Given the description of an element on the screen output the (x, y) to click on. 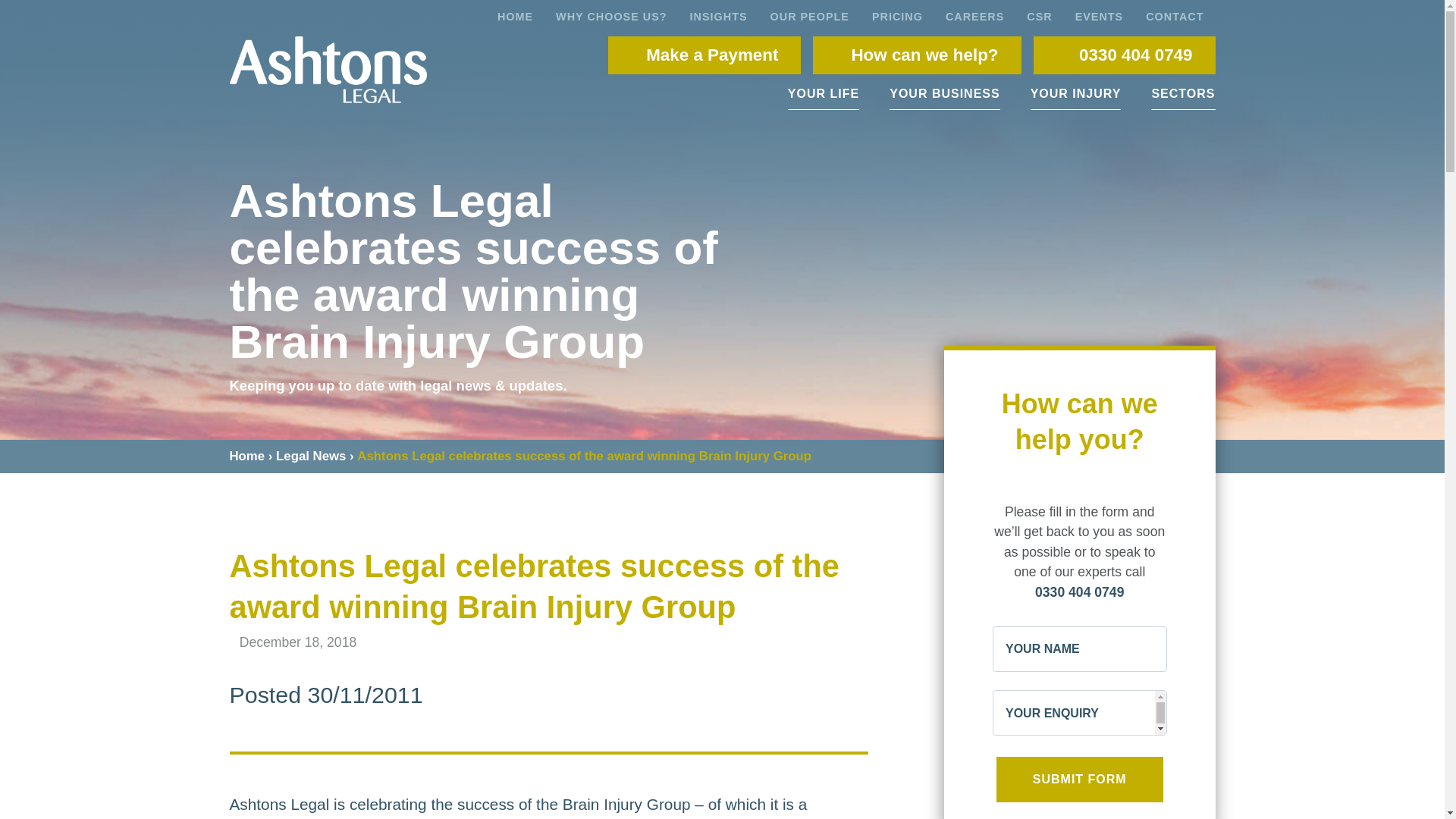
Submit form (1079, 779)
OUR PEOPLE (809, 15)
WHY CHOOSE US? (611, 15)
CAREERS (974, 15)
YOUR LIFE (823, 93)
CONTACT (1174, 15)
Make a Payment (704, 55)
INSIGHTS (718, 15)
EVENTS (1099, 15)
Ashtons Legal (327, 69)
